Given the description of an element on the screen output the (x, y) to click on. 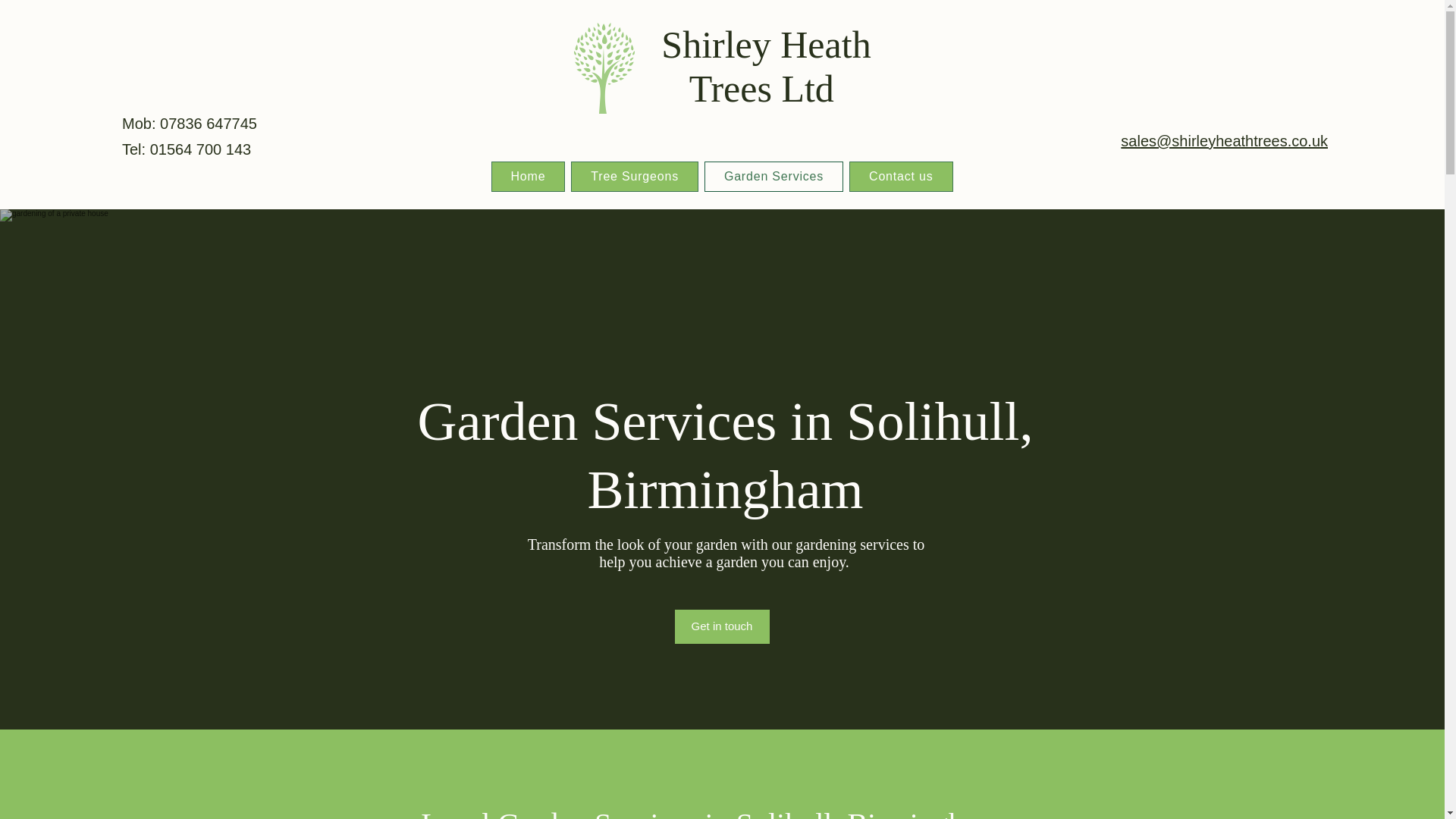
Home (529, 176)
Home (738, 188)
Contact us (978, 188)
Garden Services (773, 176)
Tree Surgeons (804, 188)
Tree Surgeons (634, 176)
Contact us (900, 176)
Shirley Heath Trees Ltd  (765, 66)
Get in touch (722, 626)
Garden Services (895, 188)
